Given the description of an element on the screen output the (x, y) to click on. 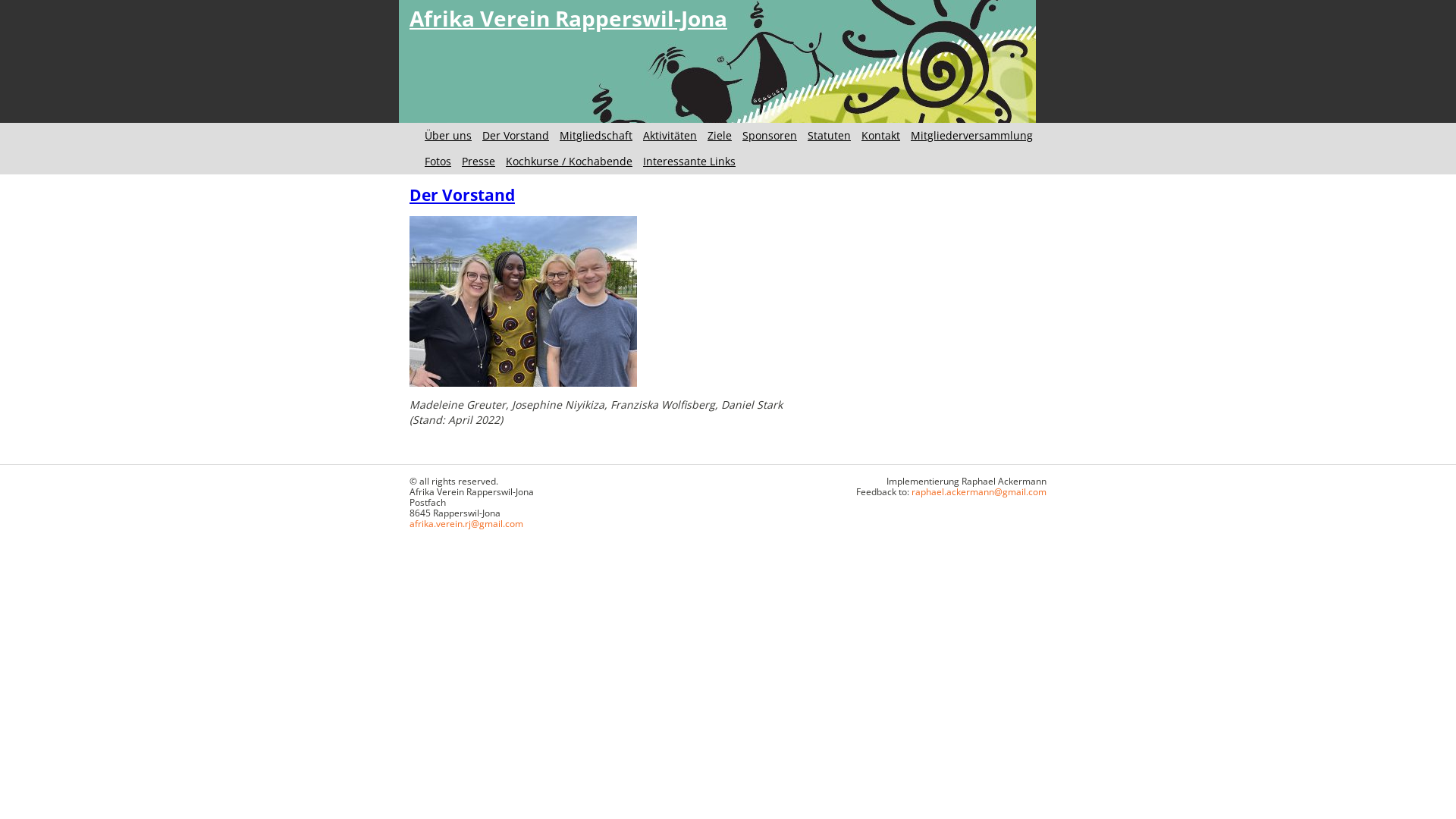
Der Vorstand Element type: text (461, 194)
afrika.verein.rj@gmail.com Element type: text (466, 523)
Presse Element type: text (478, 160)
Mitgliedschaft Element type: text (595, 135)
Ziele Element type: text (719, 135)
raphael.ackermann@gmail.com Element type: text (978, 491)
Kontakt Element type: text (880, 135)
Der Vorstand Element type: text (515, 135)
Statuten Element type: text (828, 135)
Interessante Links Element type: text (689, 160)
Kochkurse / Kochabende Element type: text (568, 160)
Afrika Verein Rapperswil-Jona Element type: text (568, 17)
Mitgliederversammlung Element type: text (971, 135)
Sponsoren Element type: text (769, 135)
Fotos Element type: text (437, 160)
